Given the description of an element on the screen output the (x, y) to click on. 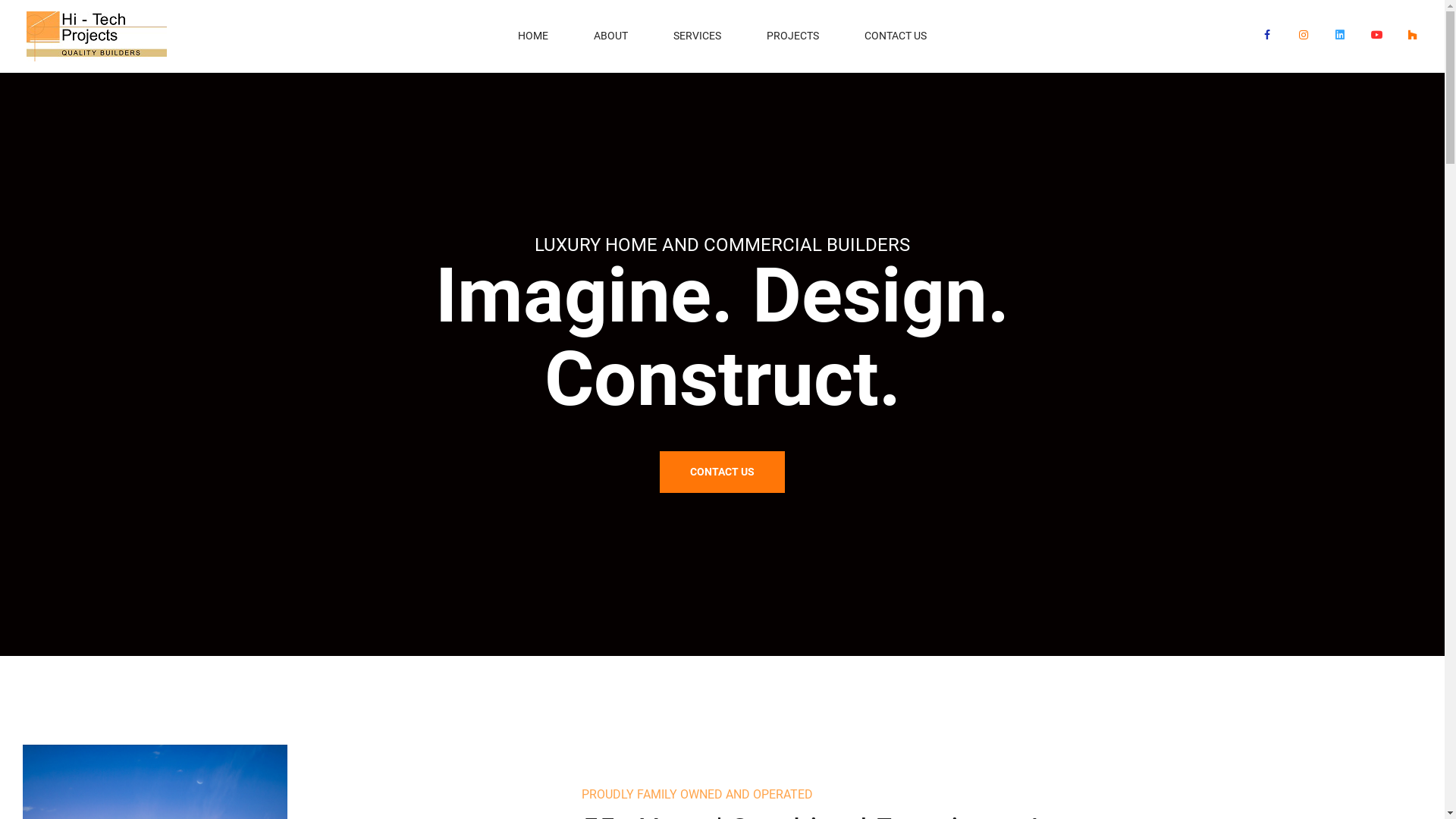
Instagram Element type: hover (1303, 34)
CONTACT US Element type: text (721, 471)
SERVICES Element type: text (696, 35)
CONTACT US Element type: text (895, 35)
YouTube Element type: hover (1376, 34)
HOME Element type: text (532, 35)
ABOUT Element type: text (610, 35)
logo-1 Element type: hover (96, 36)
PROJECTS Element type: text (792, 35)
LinkedIn Element type: hover (1339, 34)
